Given the description of an element on the screen output the (x, y) to click on. 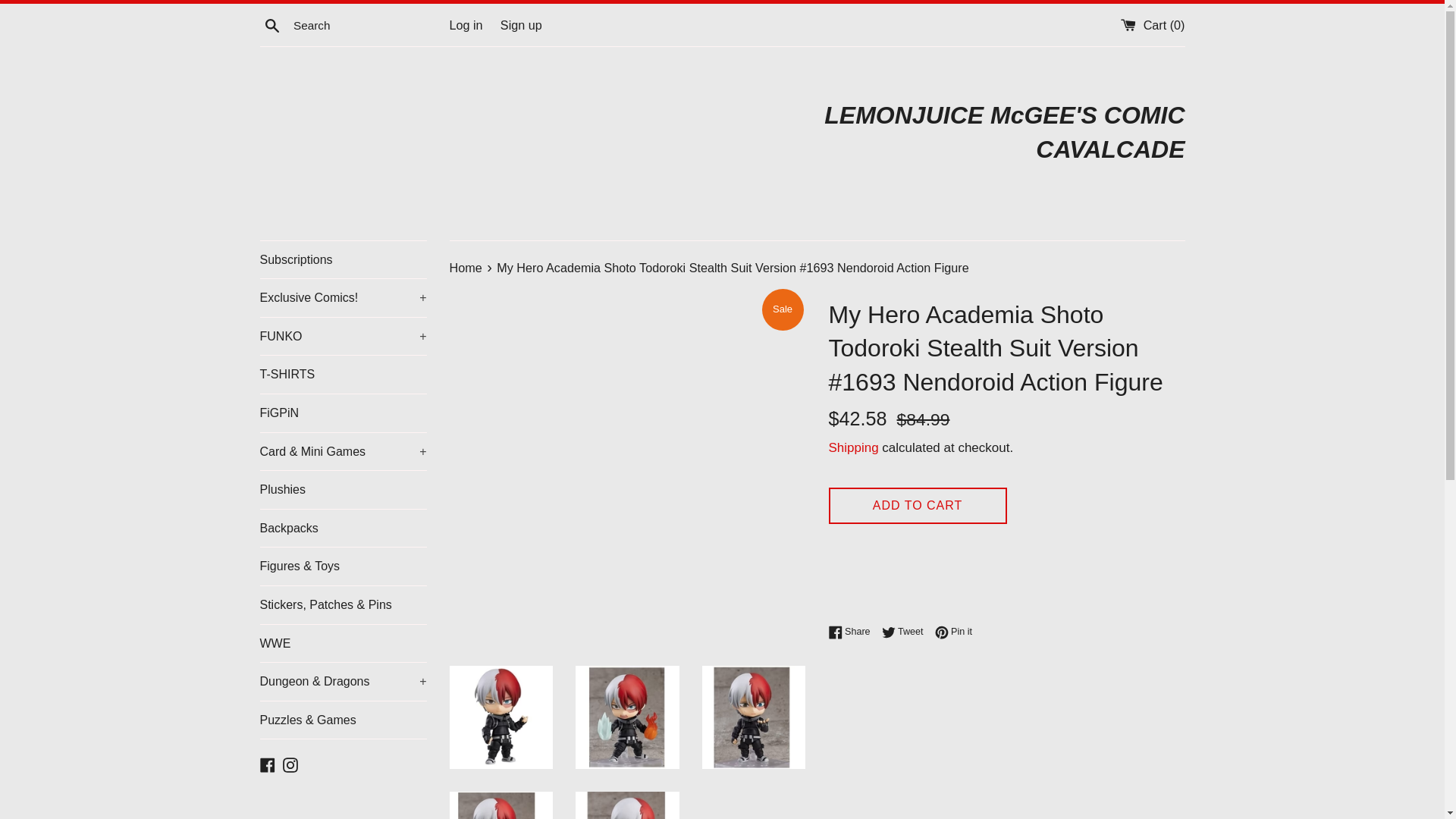
Pin on Pinterest (953, 631)
Search (271, 24)
Backpacks (342, 528)
Sign up (520, 24)
LemonJuice McGee's Comic Cavalcade on Instagram (290, 763)
Log in (464, 24)
WWE (342, 643)
LemonJuice McGee's Comic Cavalcade on Facebook (267, 763)
Back to the frontpage (466, 267)
T-SHIRTS (342, 374)
